Given the description of an element on the screen output the (x, y) to click on. 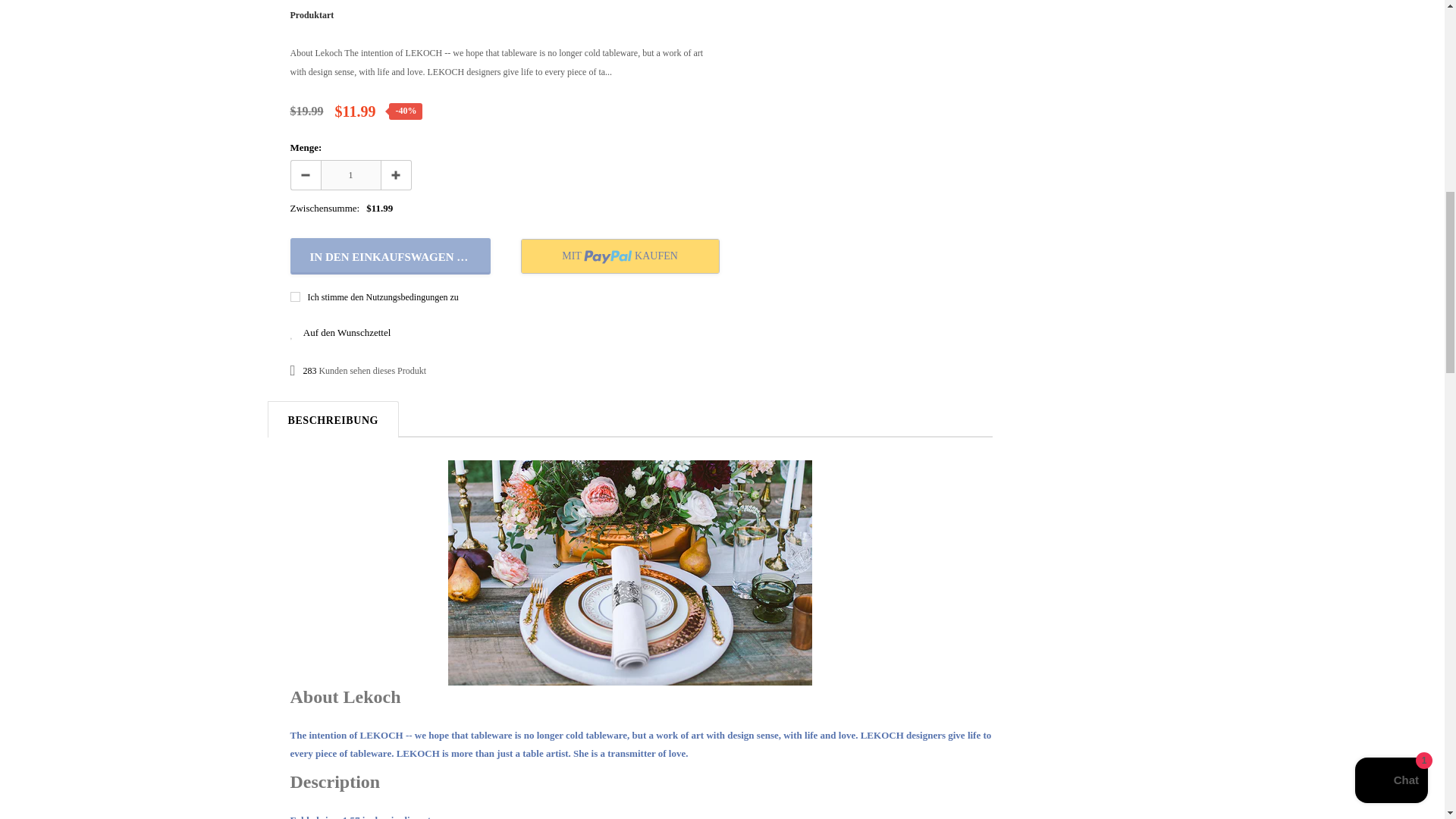
1 (350, 174)
In den Einkaufswagen legen (389, 256)
